Given the description of an element on the screen output the (x, y) to click on. 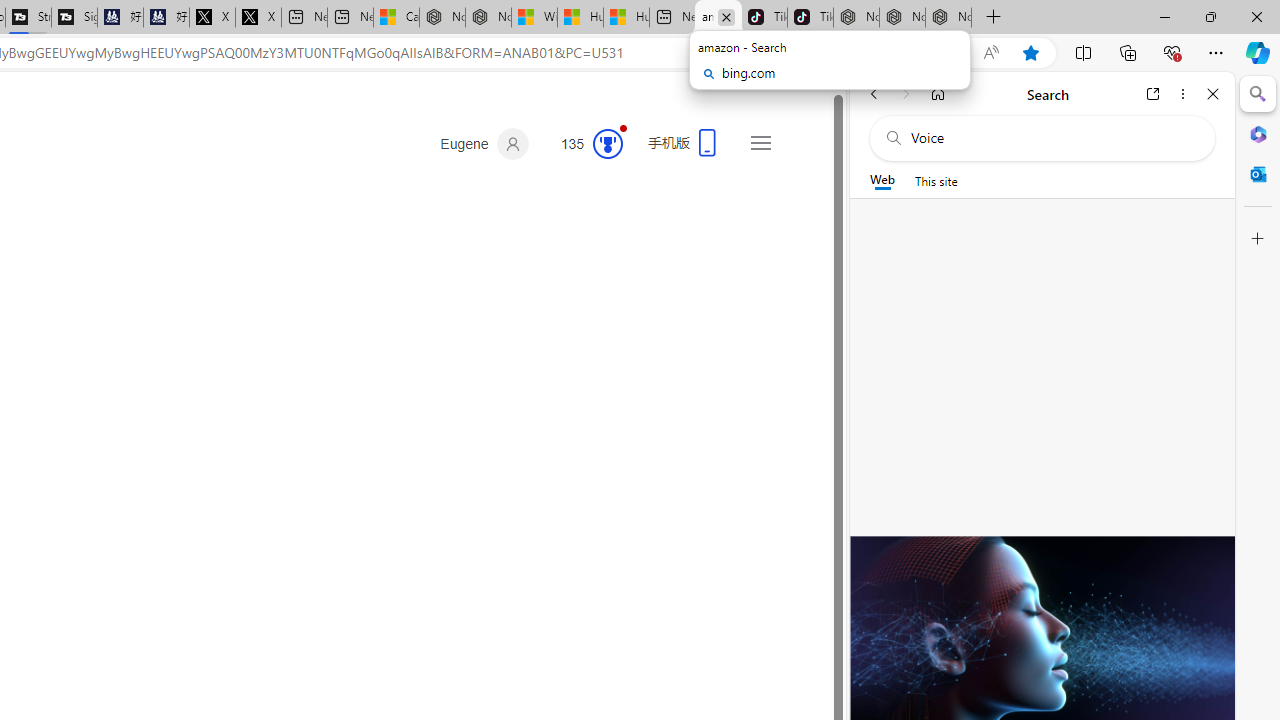
Eugene (484, 143)
Nordace - Best Sellers (856, 17)
Microsoft Rewards 132 (584, 143)
Class: outer-circle-animation (607, 143)
Web scope (882, 180)
